Given the description of an element on the screen output the (x, y) to click on. 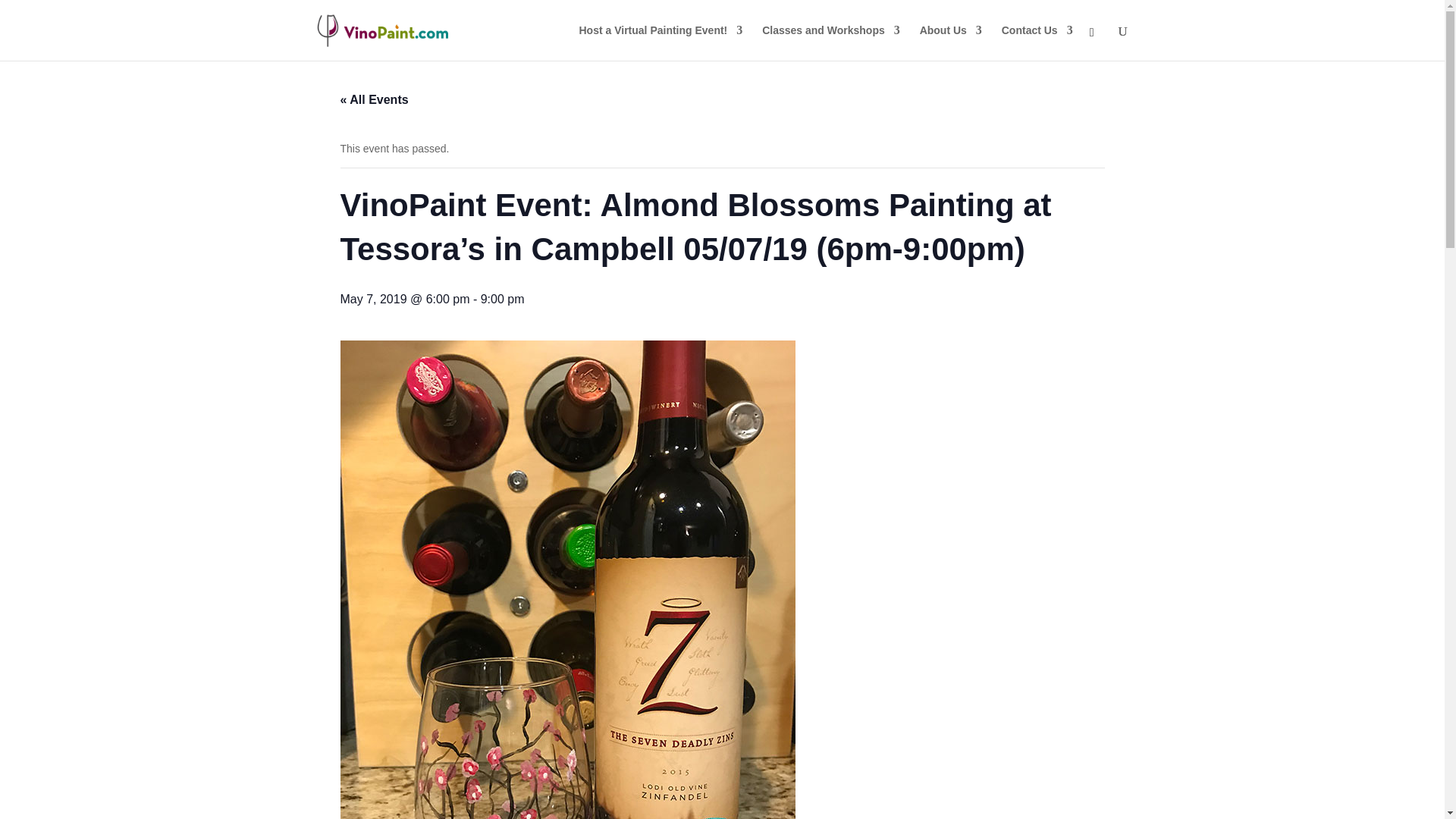
About Us (950, 42)
Contact Us (1037, 42)
Host a Virtual Painting Event! (660, 42)
Classes and Workshops (830, 42)
